Given the description of an element on the screen output the (x, y) to click on. 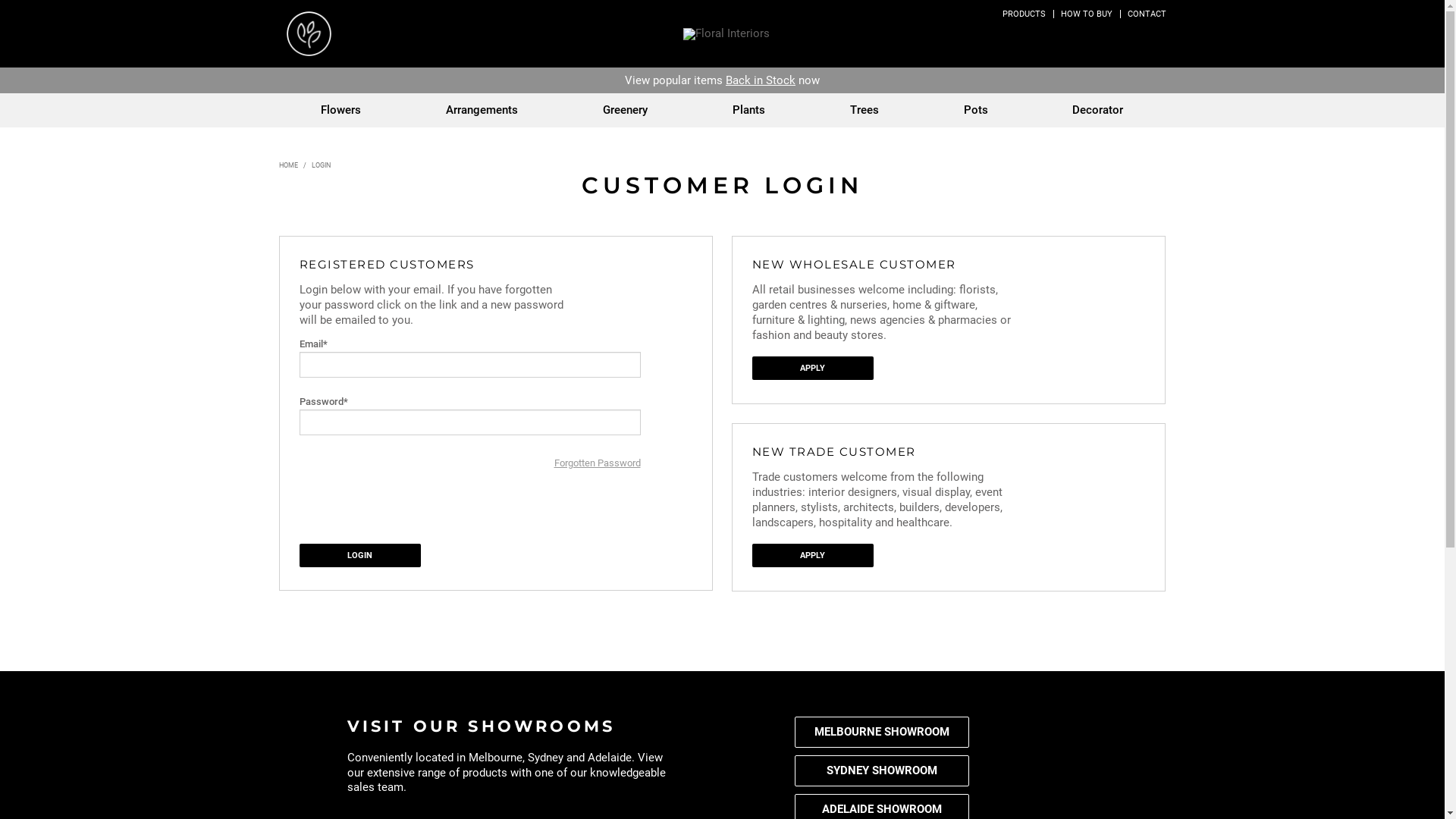
Plants Element type: text (748, 110)
Forgotten Password Element type: text (596, 462)
FAVOURITES Element type: text (1121, 39)
CONTACT Element type: text (1145, 13)
Cart: Element type: text (1156, 39)
Trees Element type: text (864, 110)
HOME Element type: text (288, 165)
APPLY Element type: text (812, 555)
MELBOURNE SHOWROOM Element type: text (881, 731)
LOGIN Element type: text (1086, 39)
New Element type: text (698, 80)
APPLY Element type: text (812, 367)
PRODUCTS Element type: text (1023, 13)
Login Element type: text (359, 555)
Flowers Element type: text (340, 110)
SYDNEY SHOWROOM Element type: text (881, 770)
Greenery Element type: text (625, 110)
SEARCH Element type: text (1051, 39)
Pots Element type: text (975, 110)
Decorator Element type: text (1097, 110)
Arrangements Element type: text (481, 110)
HOW TO BUY Element type: text (1085, 13)
